Given the description of an element on the screen output the (x, y) to click on. 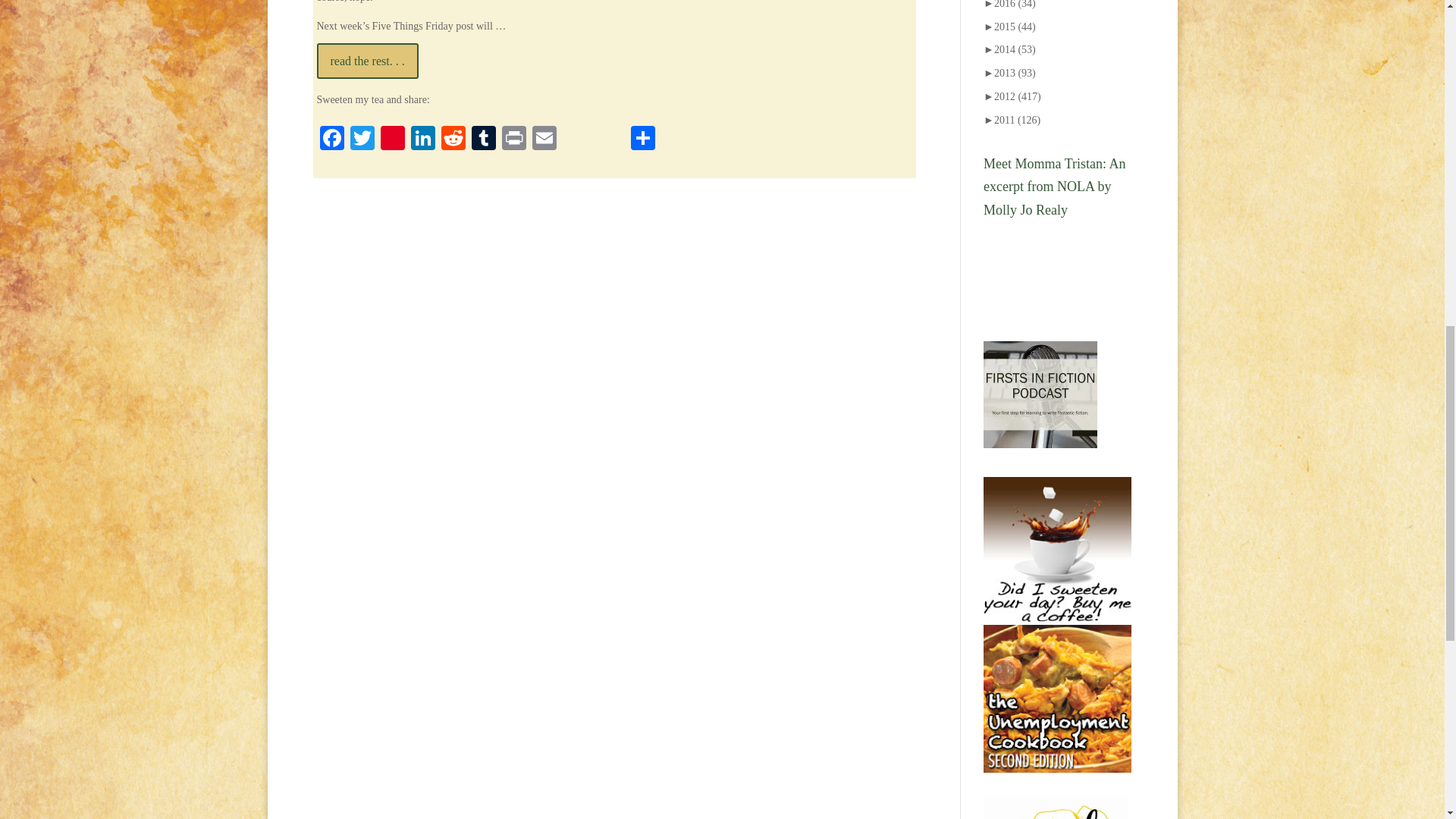
read the rest. . . (368, 60)
Twitter (362, 141)
LinkedIn (422, 141)
Email (544, 141)
LinkedIn (422, 141)
Pinterest (392, 141)
Reddit (453, 141)
Pinterest (392, 141)
Facebook (332, 141)
Tumblr (483, 141)
Twitter (362, 141)
Facebook (332, 141)
Print (514, 141)
